Given the description of an element on the screen output the (x, y) to click on. 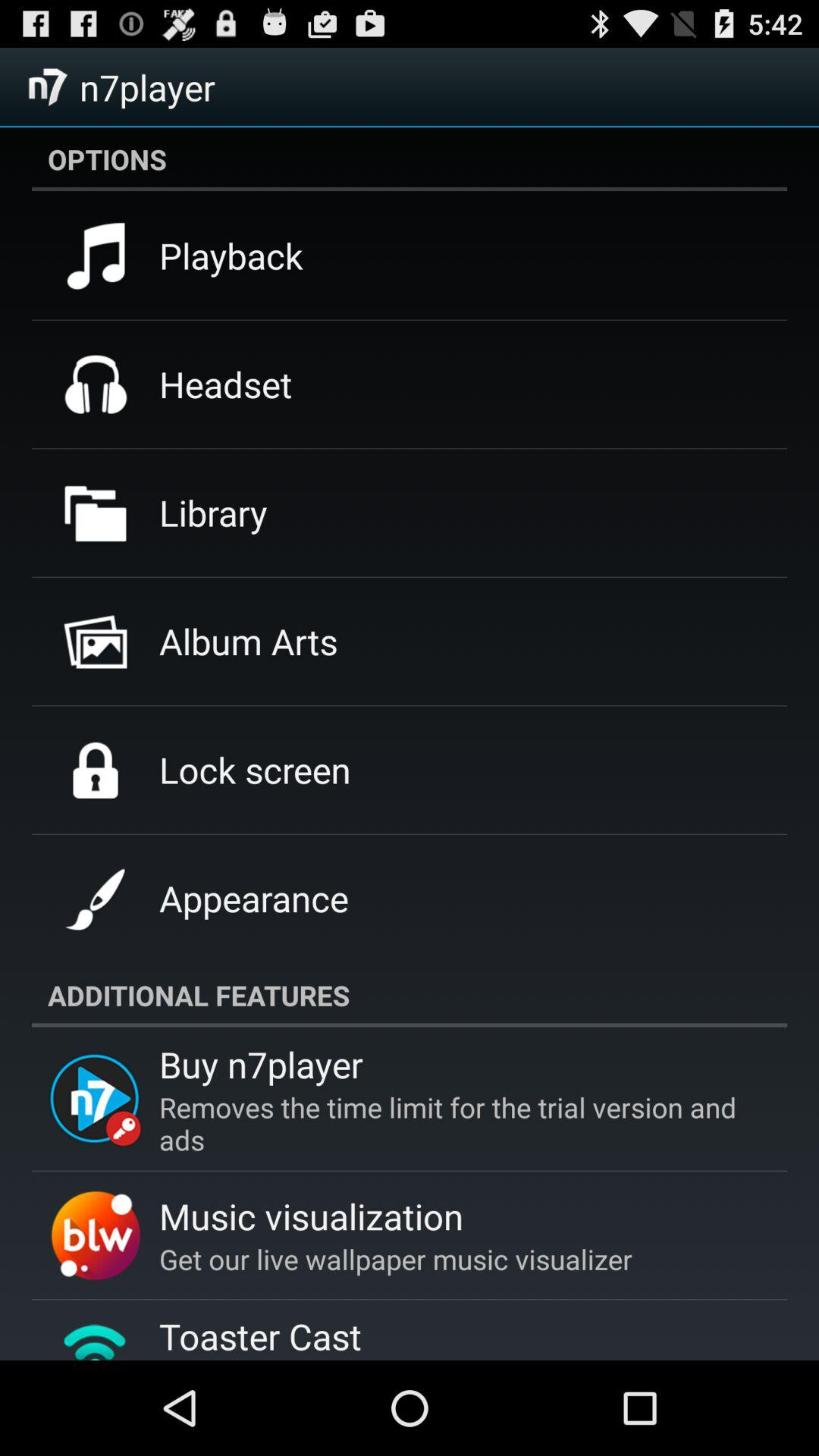
choose the album arts icon (248, 641)
